Given the description of an element on the screen output the (x, y) to click on. 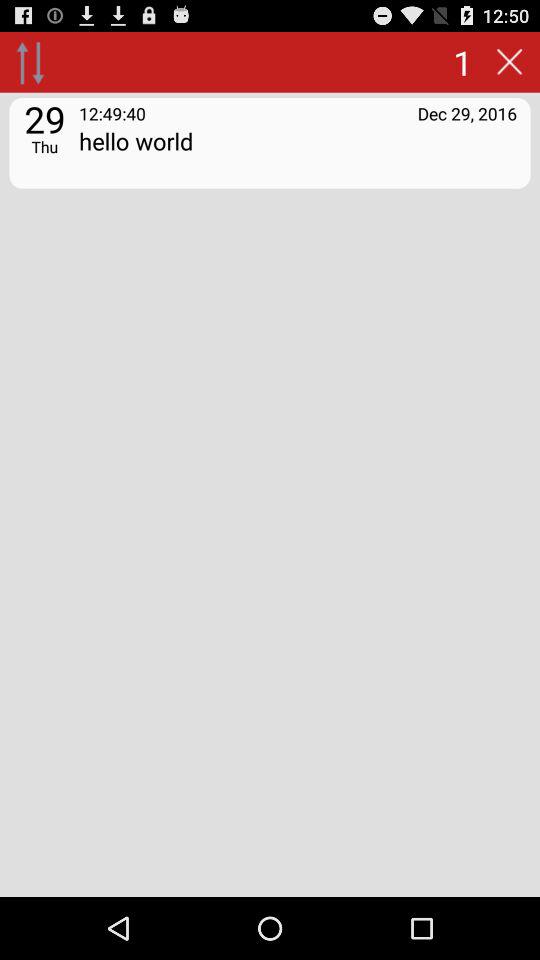
select icon below 12:49:40 app (298, 154)
